Given the description of an element on the screen output the (x, y) to click on. 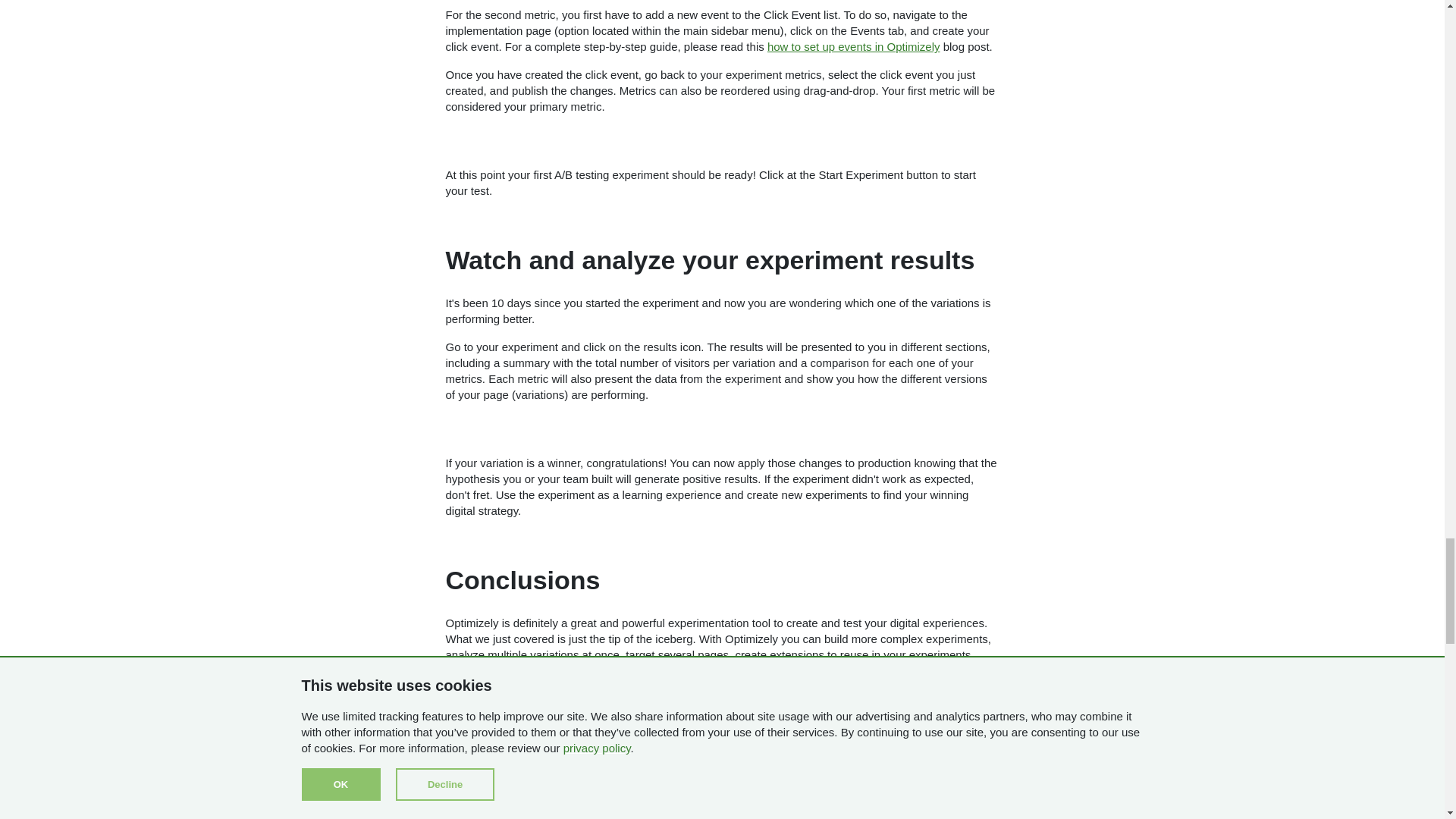
get in touch (537, 714)
how to set up events in Optimizely (853, 46)
Want to talk about a project? (722, 775)
